Given the description of an element on the screen output the (x, y) to click on. 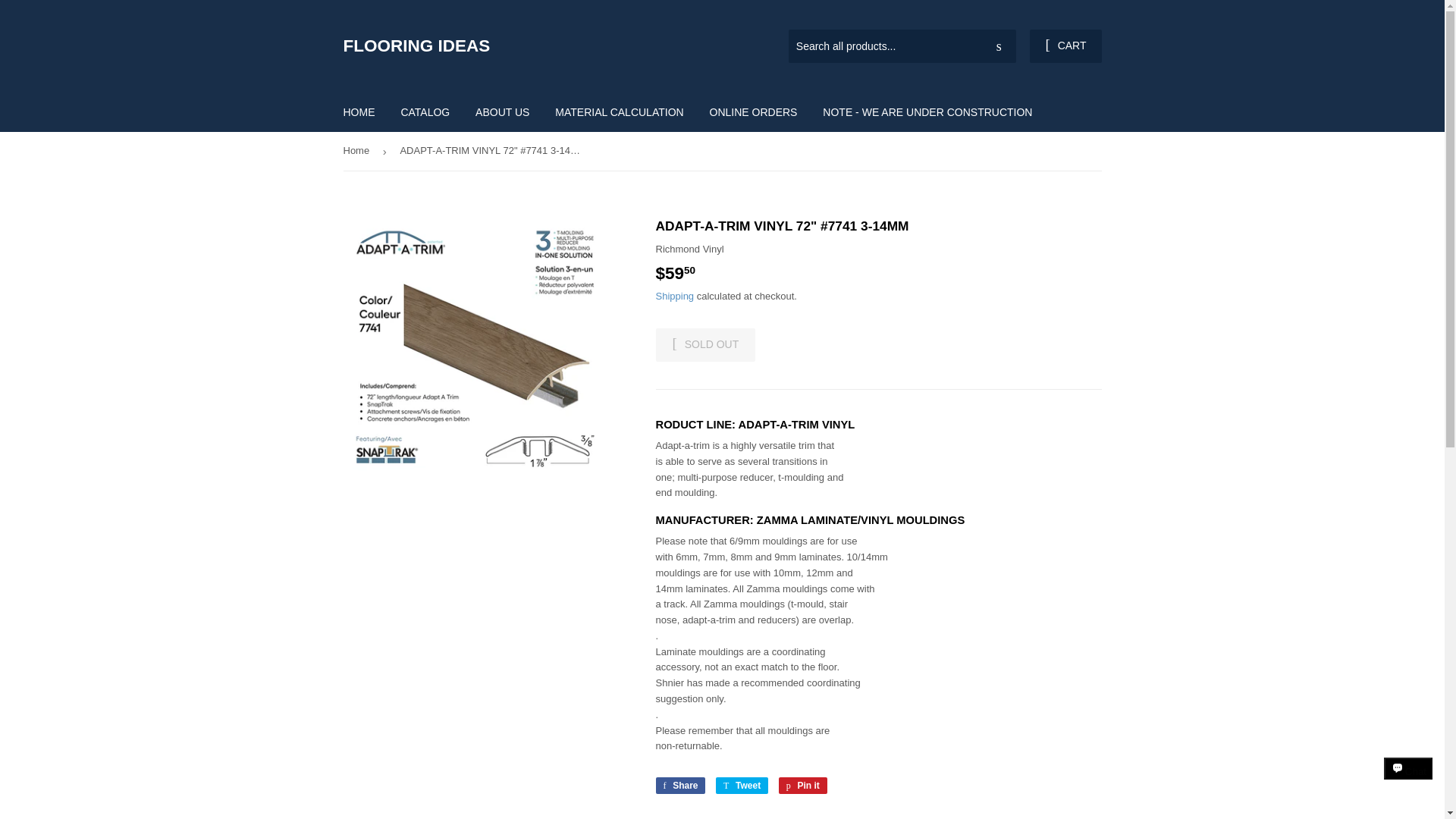
ONLINE ORDERS (753, 111)
Shipping (674, 296)
Tweet on Twitter (742, 785)
NOTE - WE ARE UNDER CONSTRUCTION (926, 111)
HOME (359, 111)
Search (998, 47)
ABOUT US (742, 785)
SOLD OUT (502, 111)
Pin on Pinterest (679, 785)
CART (705, 344)
Shopify online store chat (802, 785)
MATERIAL CALCULATION (1064, 46)
Share on Facebook (1408, 781)
